Given the description of an element on the screen output the (x, y) to click on. 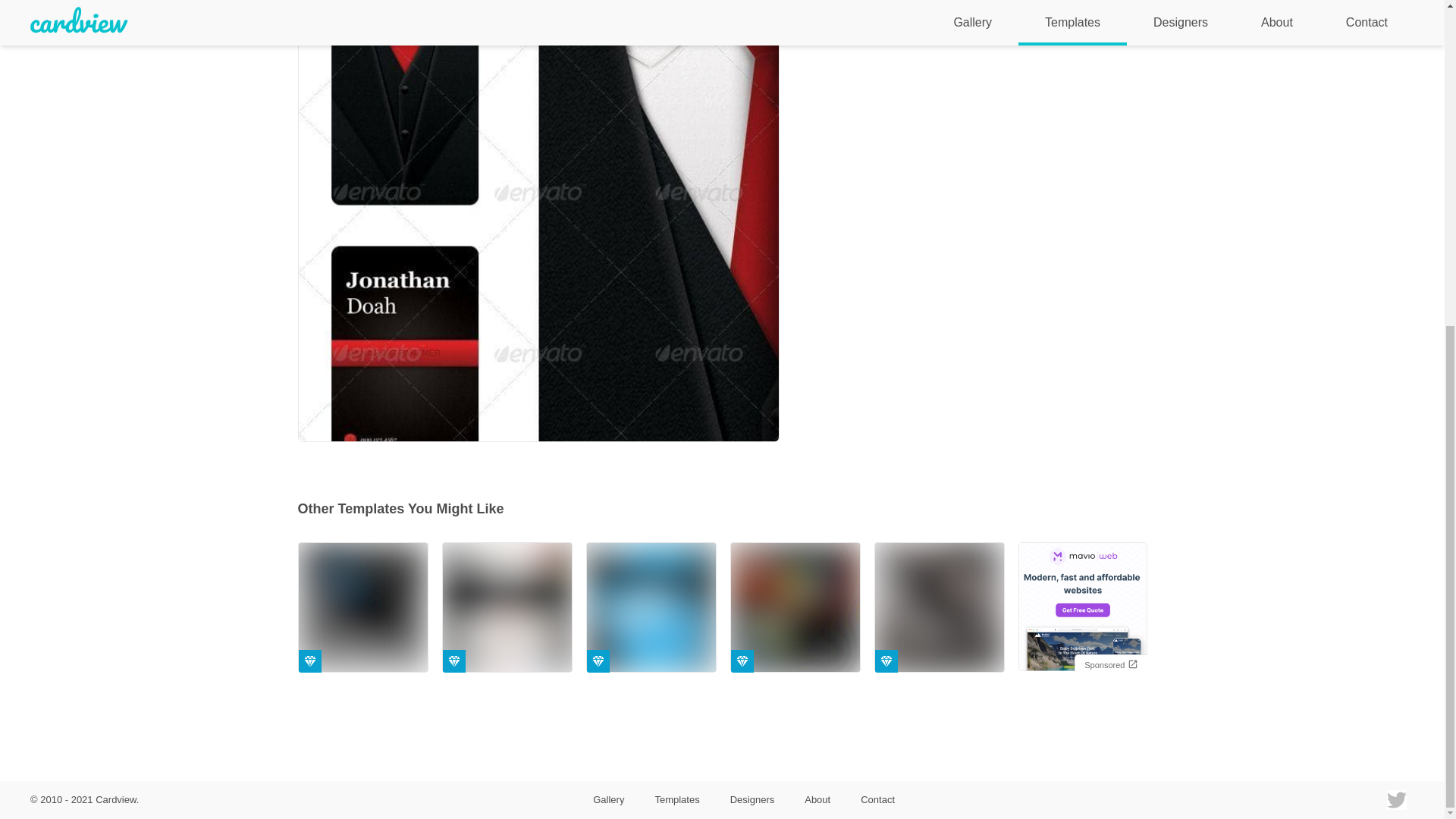
Mavio Web - Modern, fast and affordable websites (1082, 608)
Gallery (608, 799)
About (817, 799)
Templates (676, 799)
Designers (752, 799)
Contact (877, 799)
